Given the description of an element on the screen output the (x, y) to click on. 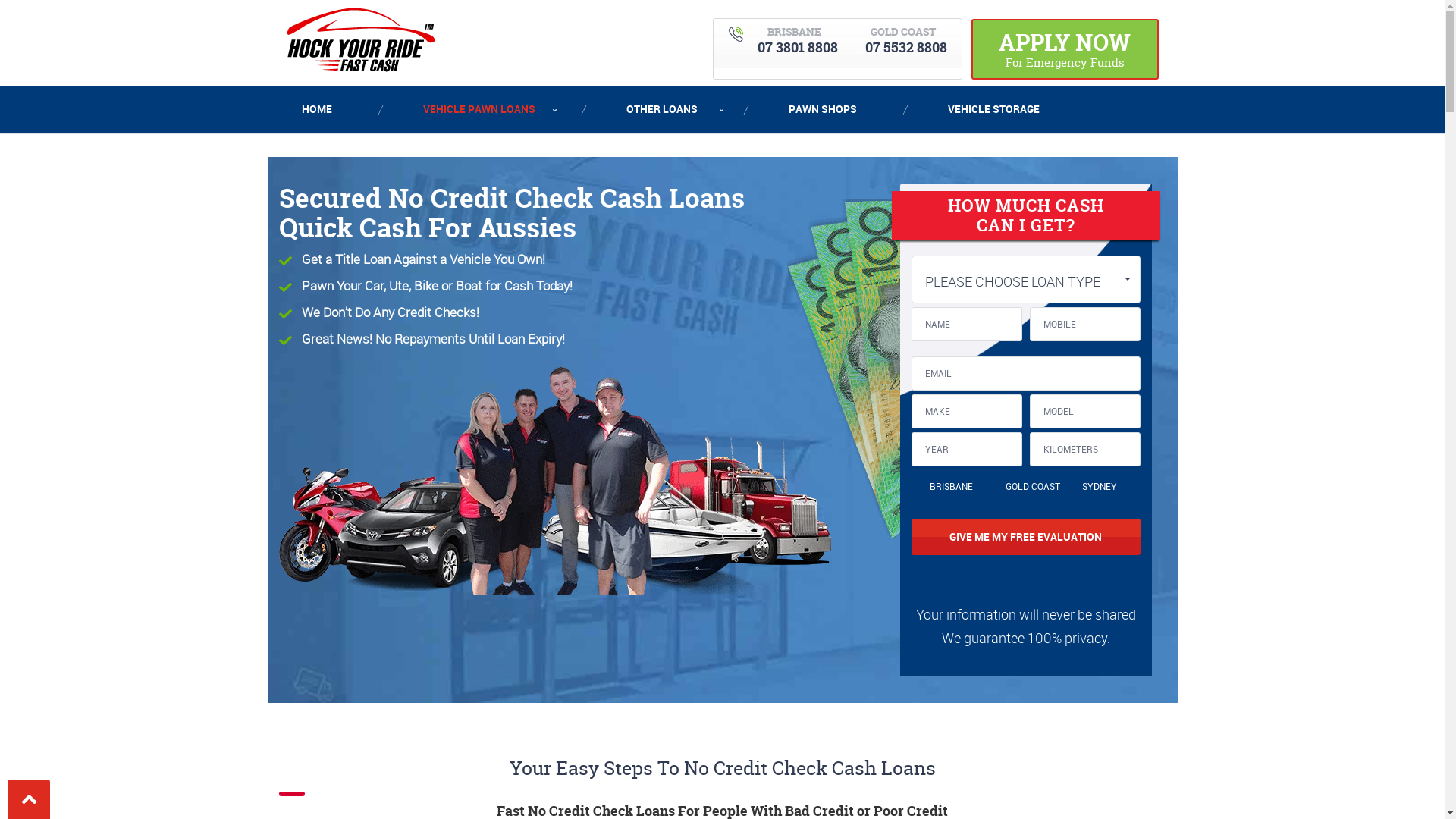
APPLY ONLINE NOW Element type: text (381, 154)
OTHER LOANS Element type: text (661, 108)
VEHICLE STORAGE Element type: text (993, 108)
PAWN SHOPS Element type: text (822, 108)
VEHICLE PAWN LOANS Element type: text (478, 108)
banner-images Element type: hover (555, 481)
Give me my FREE Evaluation Element type: text (1025, 536)
PLEASE CHOOSE LOAN TYPE
  Element type: text (1025, 279)
APPLY NOW
For Emergency Funds Element type: text (1063, 48)
HOME Element type: text (331, 108)
